Given the description of an element on the screen output the (x, y) to click on. 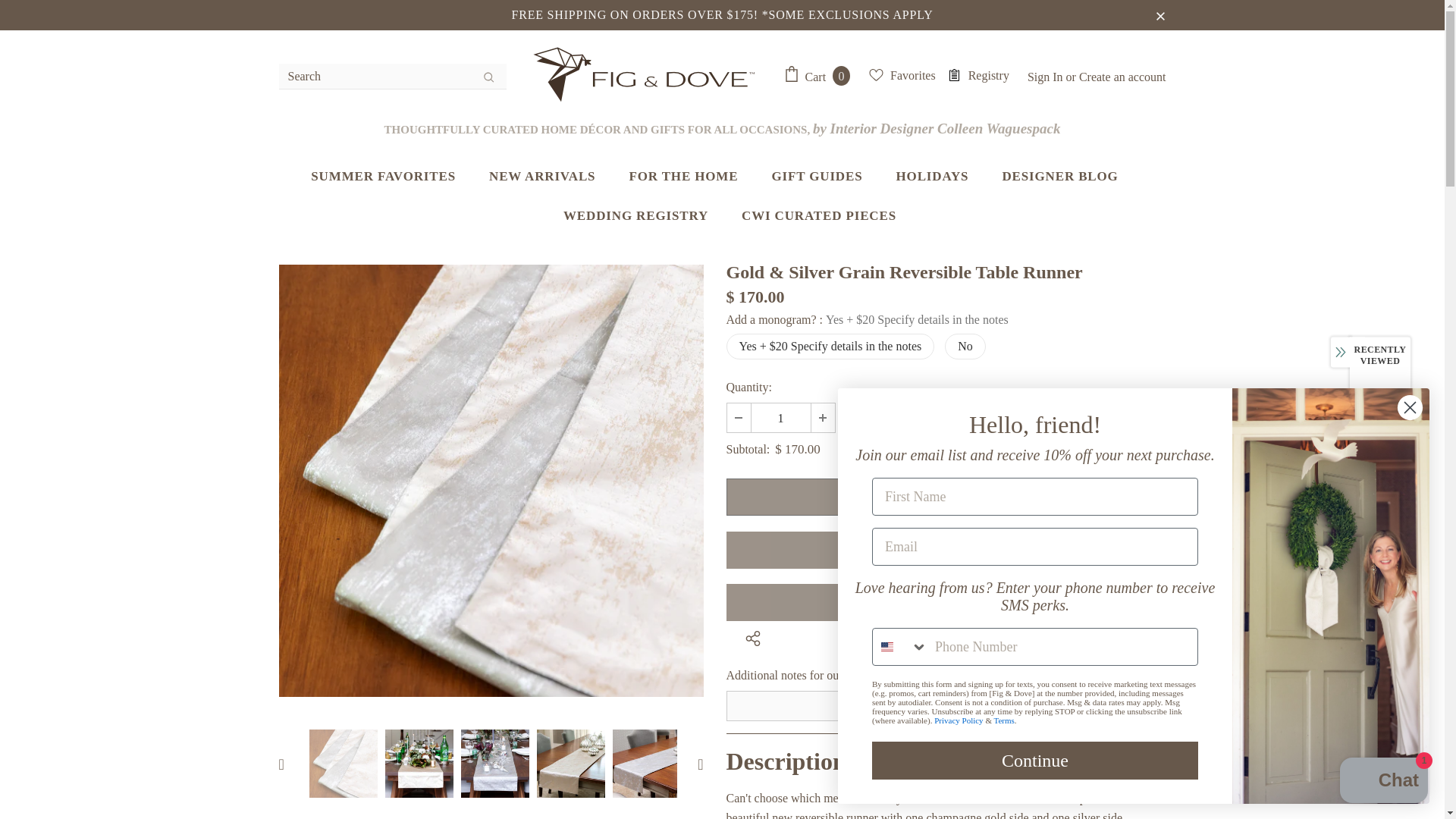
close (1160, 14)
Cart 0 (821, 75)
1 (780, 417)
Add to Wishlist (946, 601)
Add to cart (946, 496)
Add to Registry (946, 549)
